Given the description of an element on the screen output the (x, y) to click on. 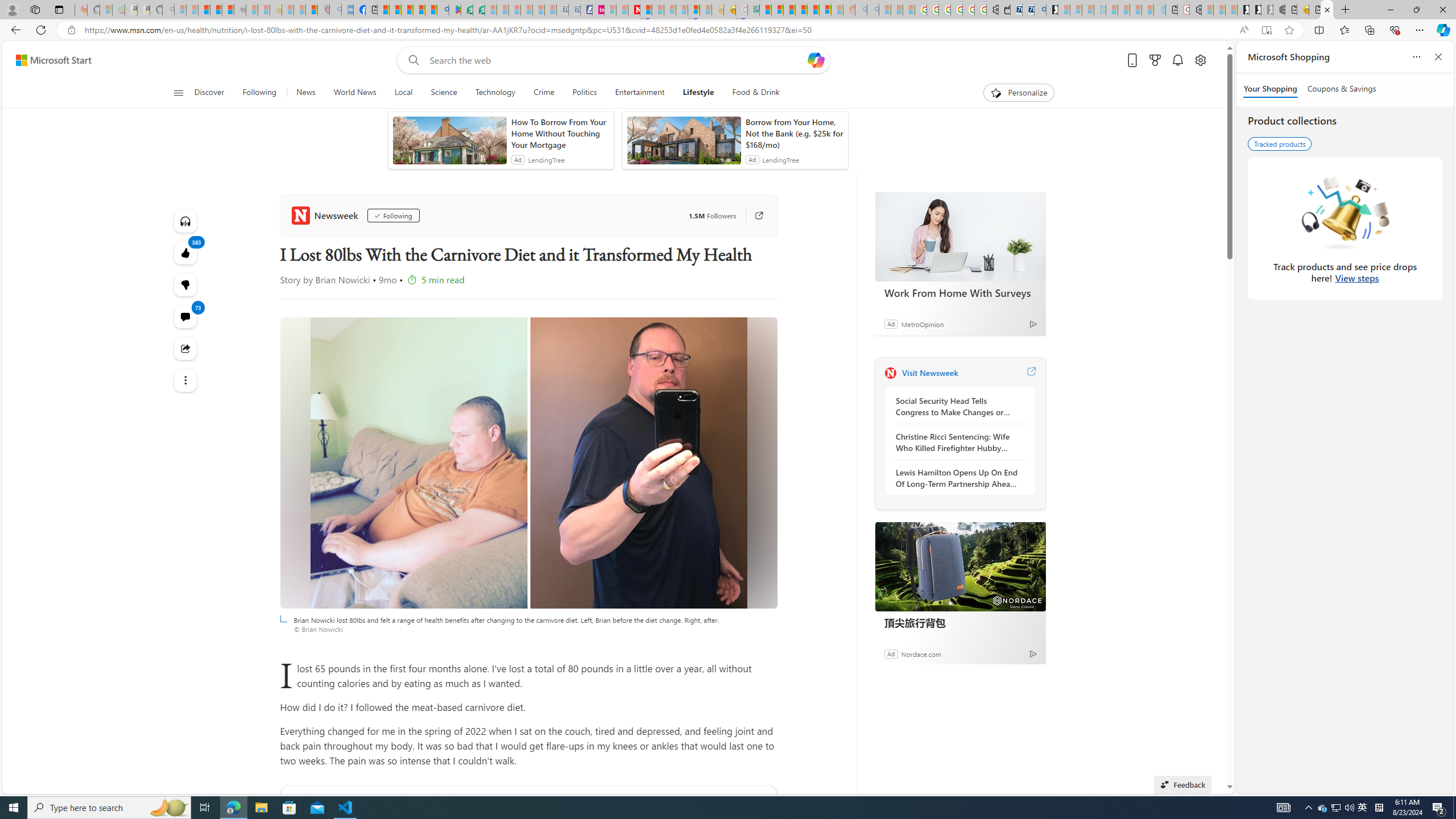
Local - MSN (311, 9)
Technology (495, 92)
Lifestyle (698, 92)
Microsoft Start (53, 60)
Refresh (40, 29)
Local (403, 92)
Personalize (1019, 92)
Lifestyle (697, 92)
Cheap Car Rentals - Save70.com (1028, 9)
Technology (494, 92)
Go to publisher's site (752, 215)
Expert Portfolios (801, 9)
